Given the description of an element on the screen output the (x, y) to click on. 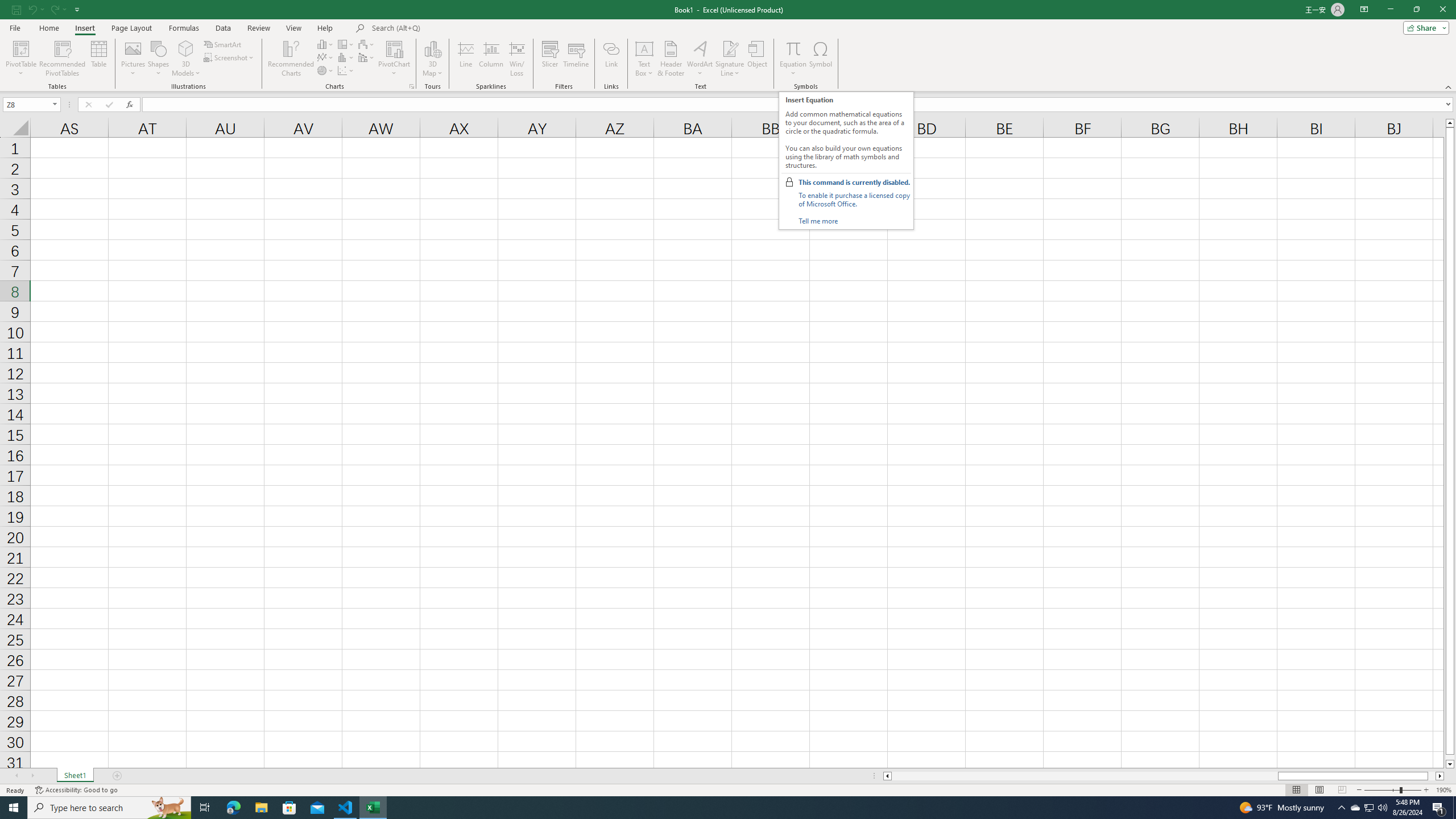
Table (98, 58)
Slicer... (550, 58)
Insert Waterfall, Funnel, Stock, Surface, or Radar Chart (366, 44)
